Given the description of an element on the screen output the (x, y) to click on. 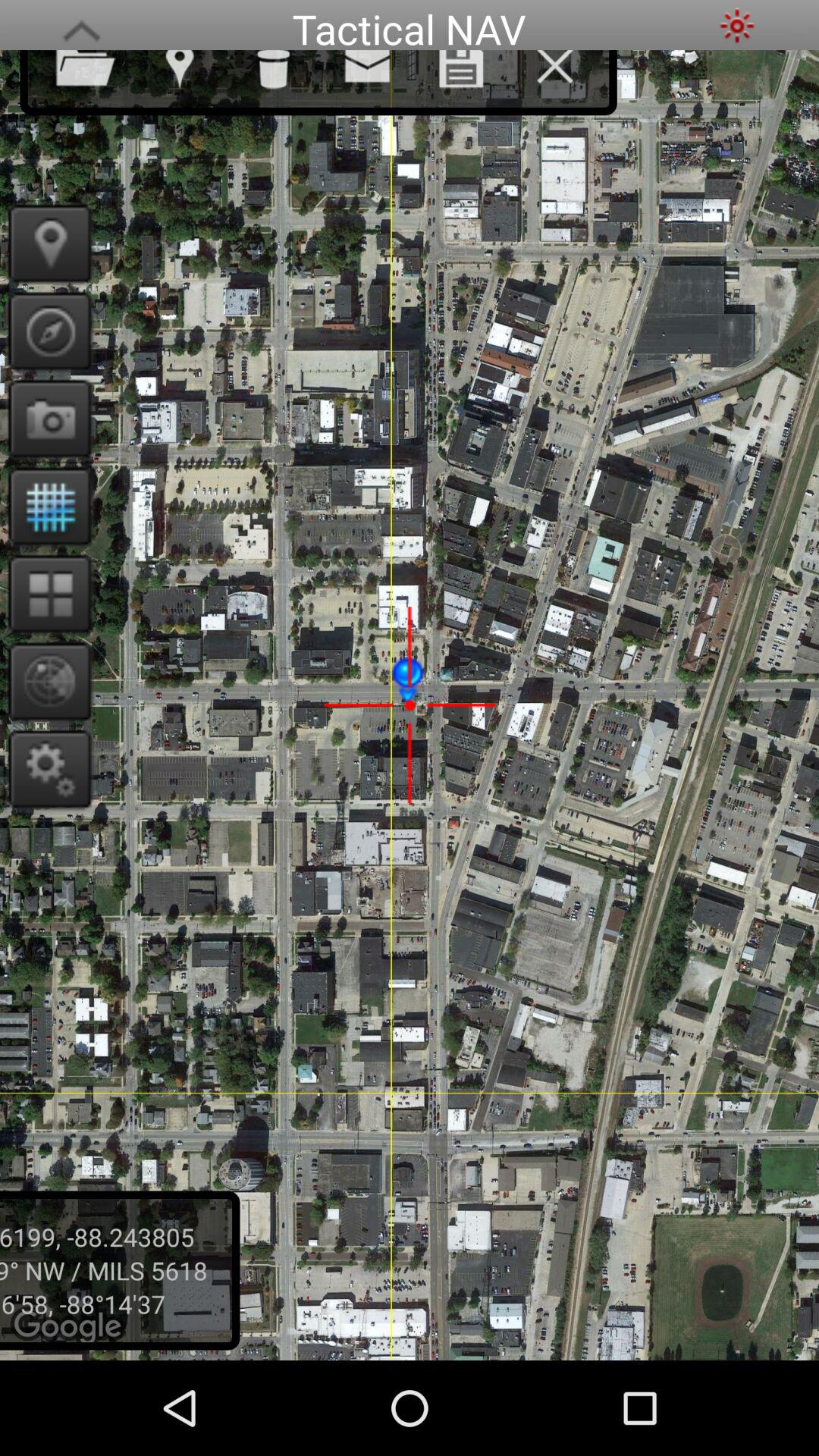
load more menu options (81, 25)
